Given the description of an element on the screen output the (x, y) to click on. 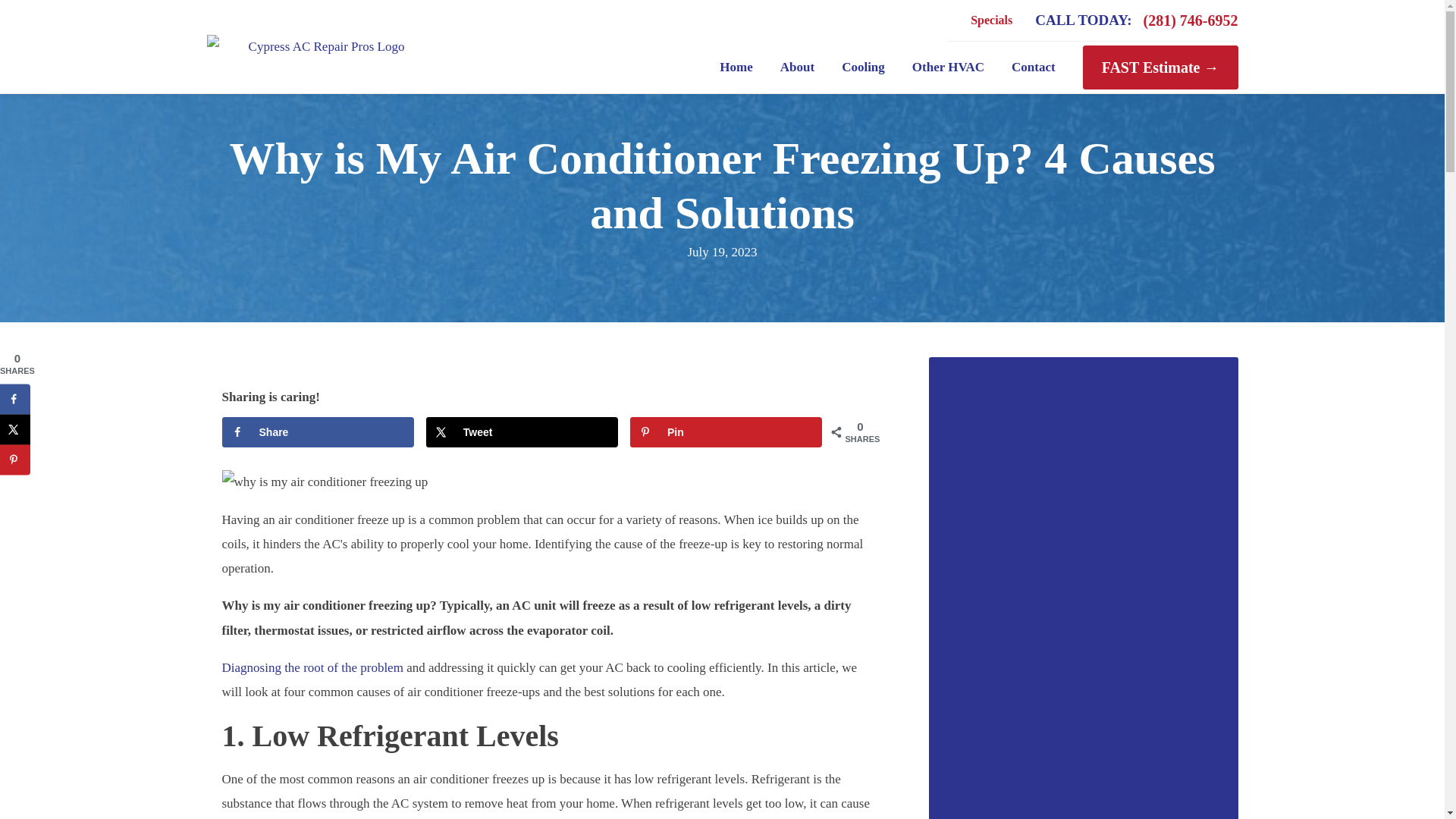
Share on X (521, 431)
Cooling (863, 67)
Share on Facebook (317, 431)
Save to Pinterest (726, 431)
Pin (726, 431)
Other HVAC (947, 67)
Contact (1032, 67)
Share (317, 431)
Tweet (521, 431)
Specials (991, 20)
Share on Facebook (15, 399)
Share on X (15, 429)
Home (735, 67)
Save to Pinterest (15, 459)
About (797, 67)
